Given the description of an element on the screen output the (x, y) to click on. 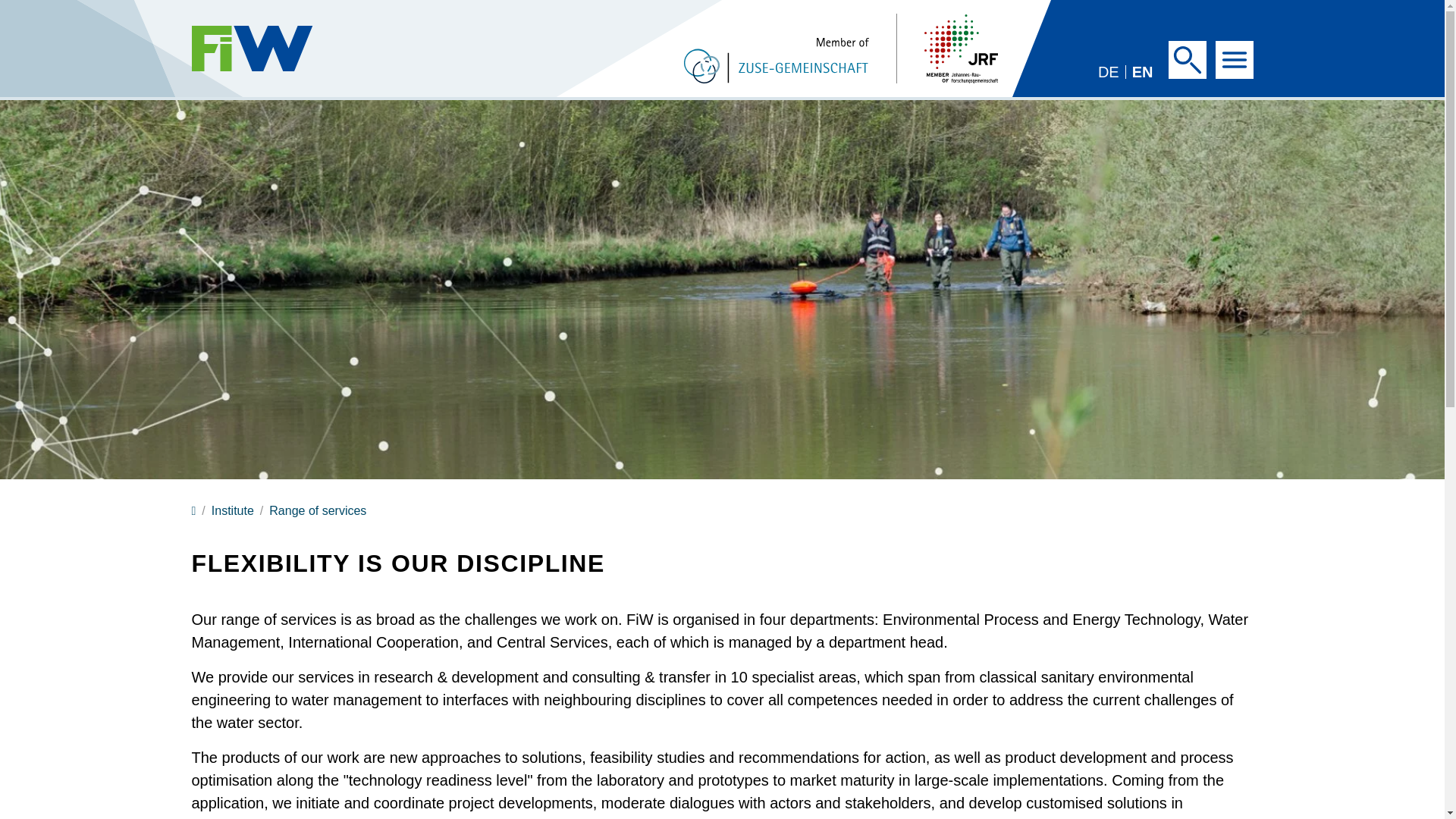
DE (1108, 71)
EN (1141, 71)
